Given the description of an element on the screen output the (x, y) to click on. 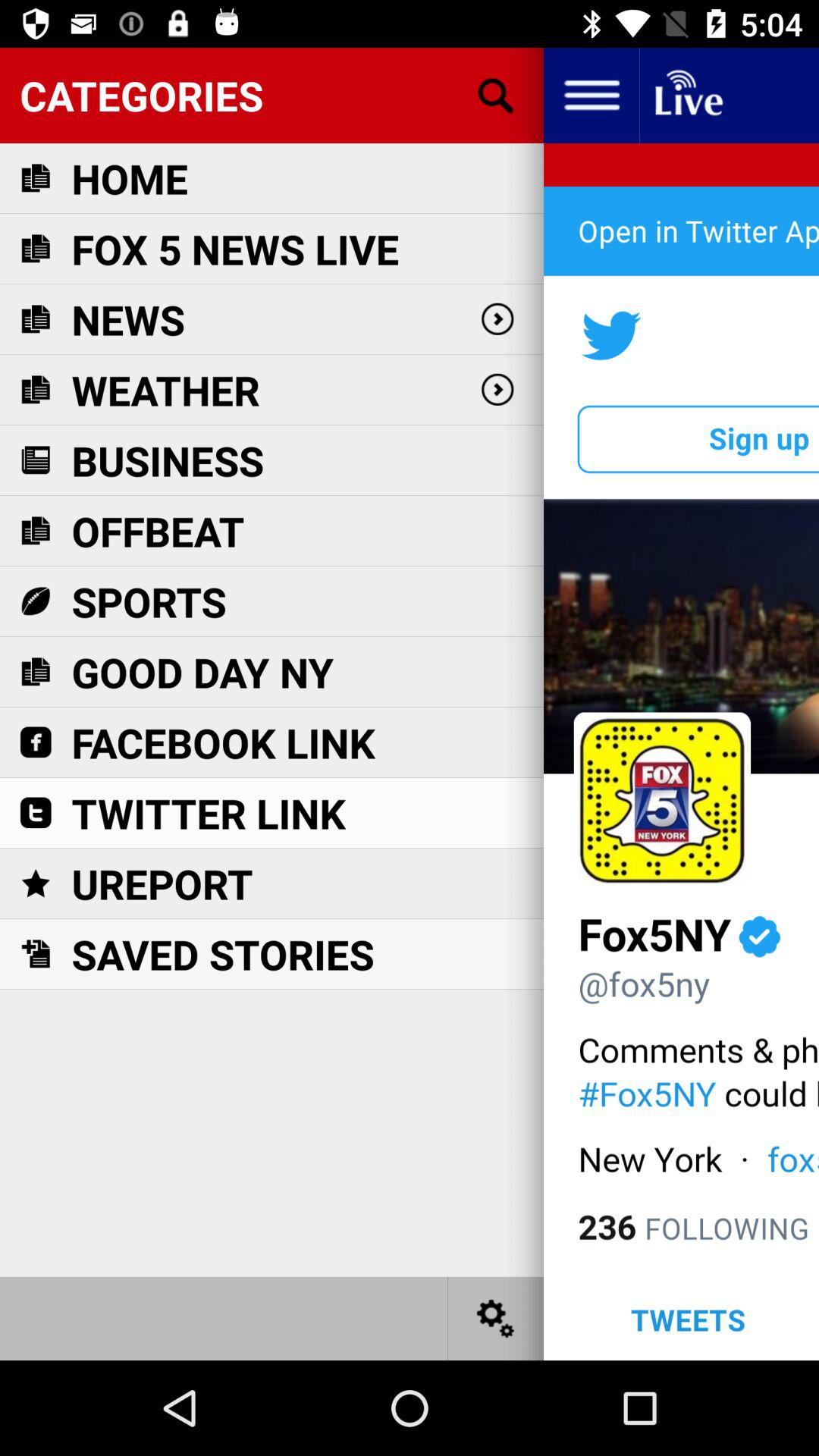
scroll until sports item (148, 601)
